Given the description of an element on the screen output the (x, y) to click on. 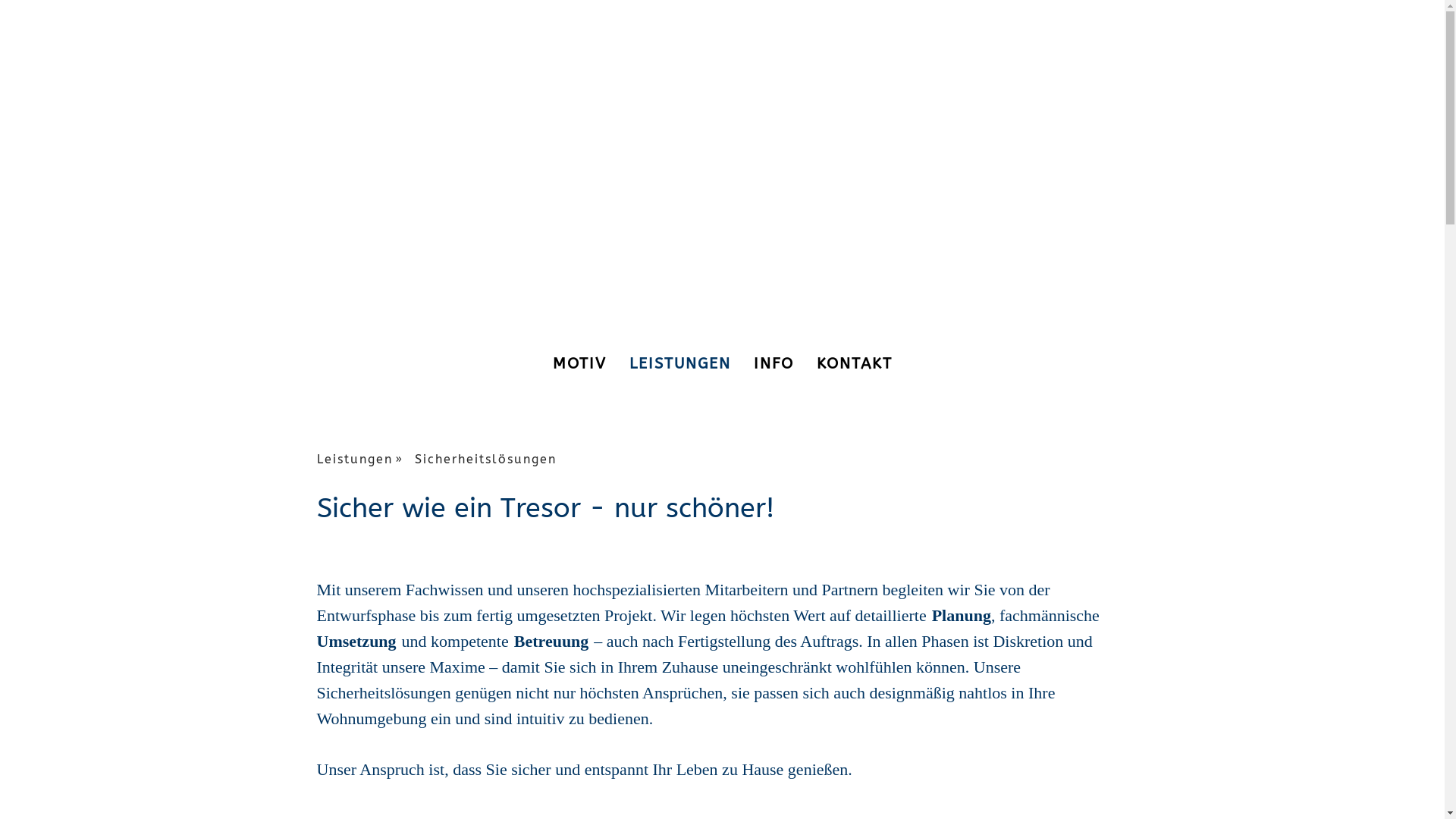
KONTAKT Element type: text (854, 363)
MOTIV Element type: text (579, 363)
Leistungen Element type: text (365, 459)
LEISTUNGEN Element type: text (679, 363)
INFO Element type: text (772, 363)
